Given the description of an element on the screen output the (x, y) to click on. 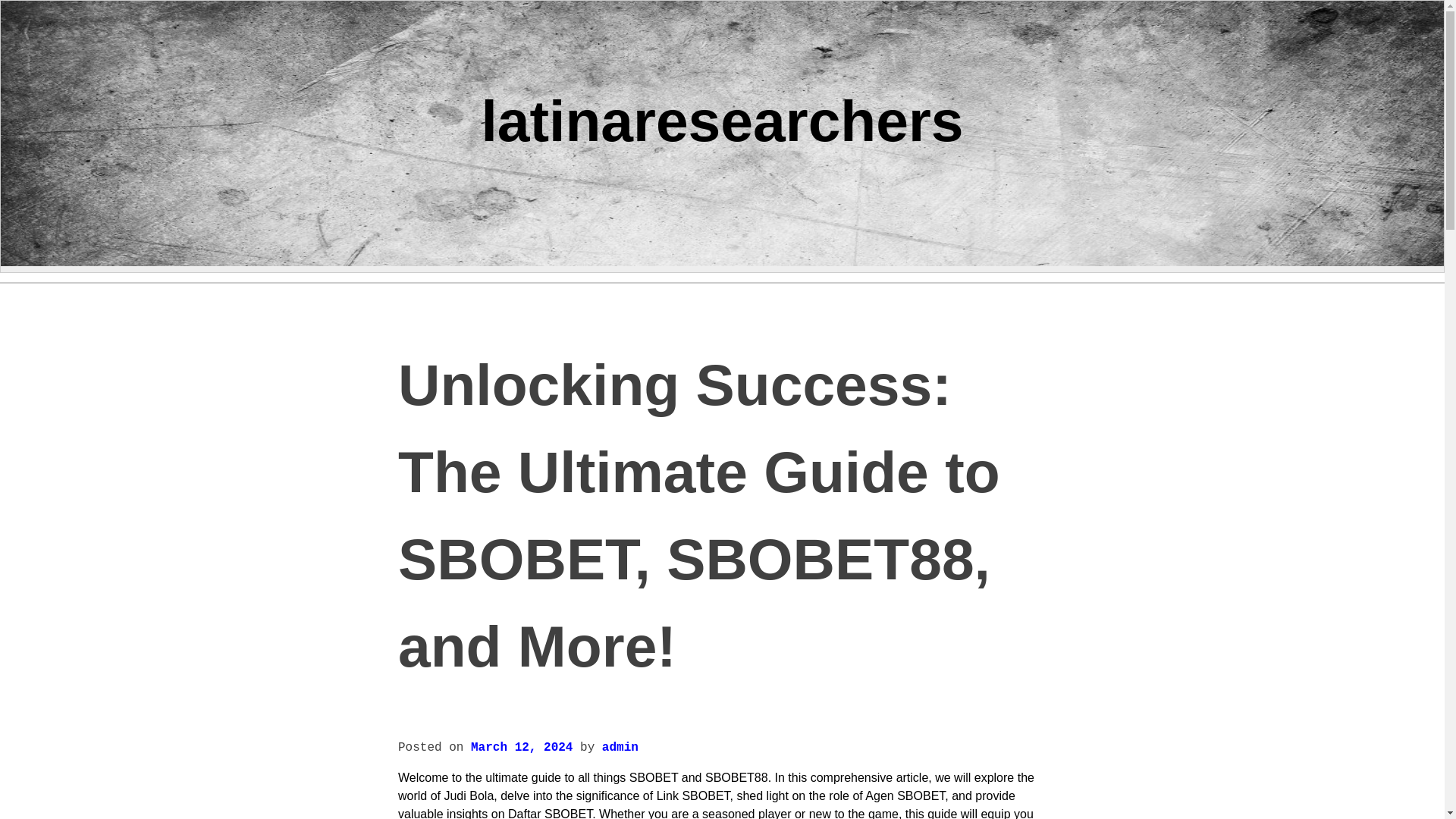
March 12, 2024 (521, 747)
latinaresearchers (721, 120)
admin (620, 747)
